Given the description of an element on the screen output the (x, y) to click on. 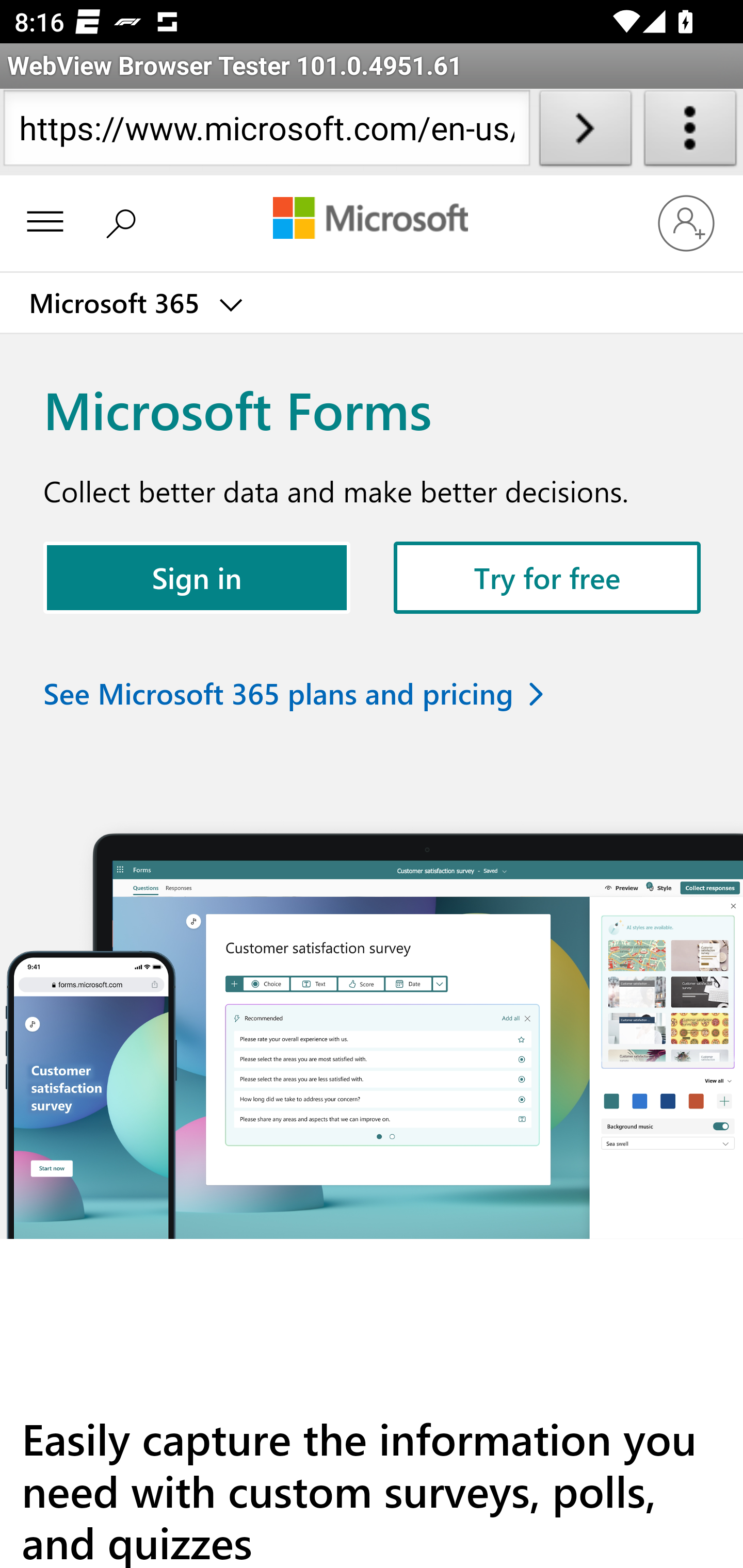
Load URL (585, 132)
About WebView (690, 132)
Microsoft (370, 219)
Sign in to your account (686, 222)
Search Microsoft 365 (126, 221)
Microsoft 365 (134, 302)
Sign in to Forms Sign in (197, 576)
Try for free: Forms Try for free (547, 576)
